Given the description of an element on the screen output the (x, y) to click on. 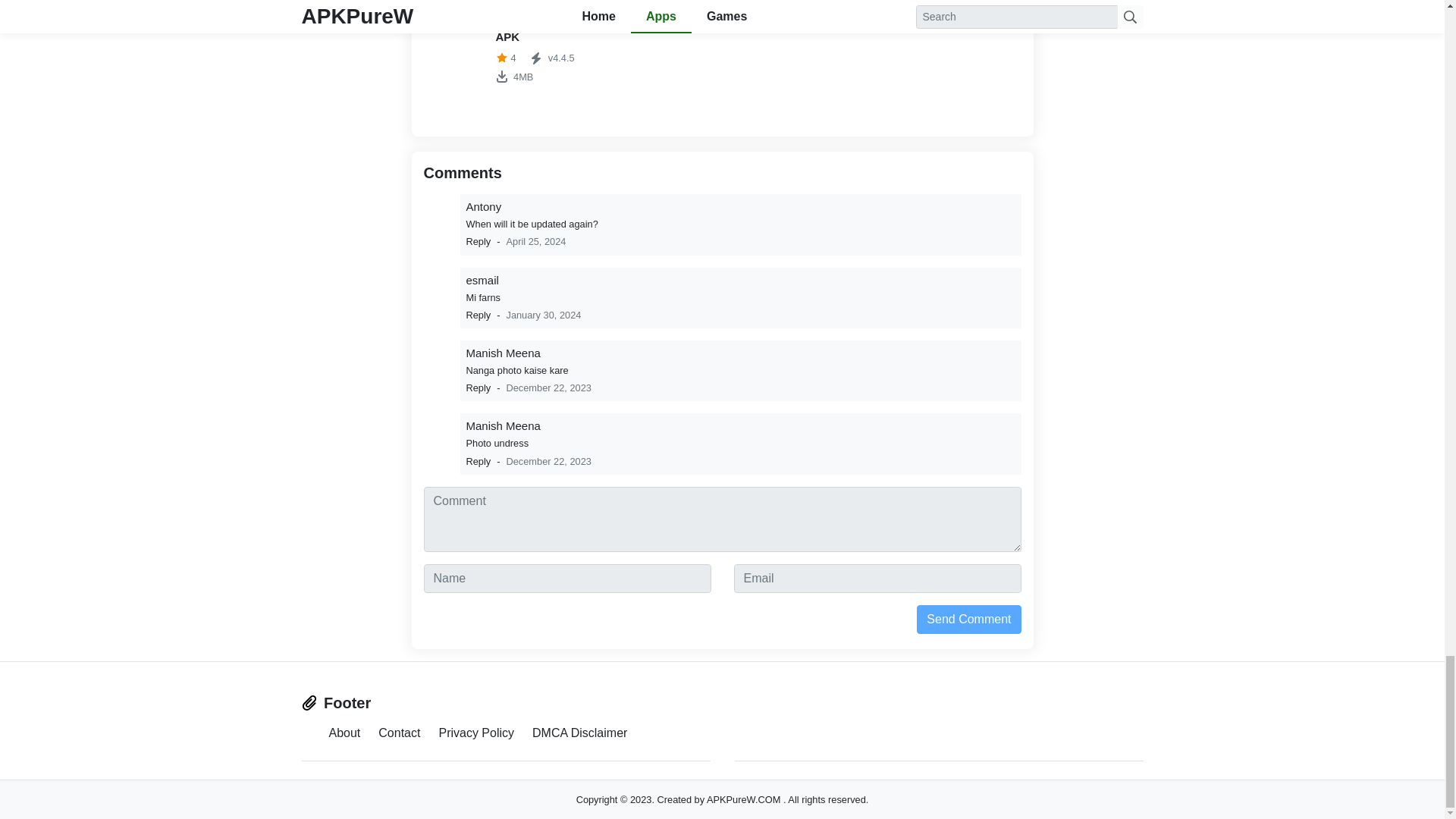
Send Comment (968, 619)
Reply (477, 387)
Reply (477, 314)
Reply (477, 241)
About (345, 731)
Contact (399, 731)
Reply (515, 53)
